Given the description of an element on the screen output the (x, y) to click on. 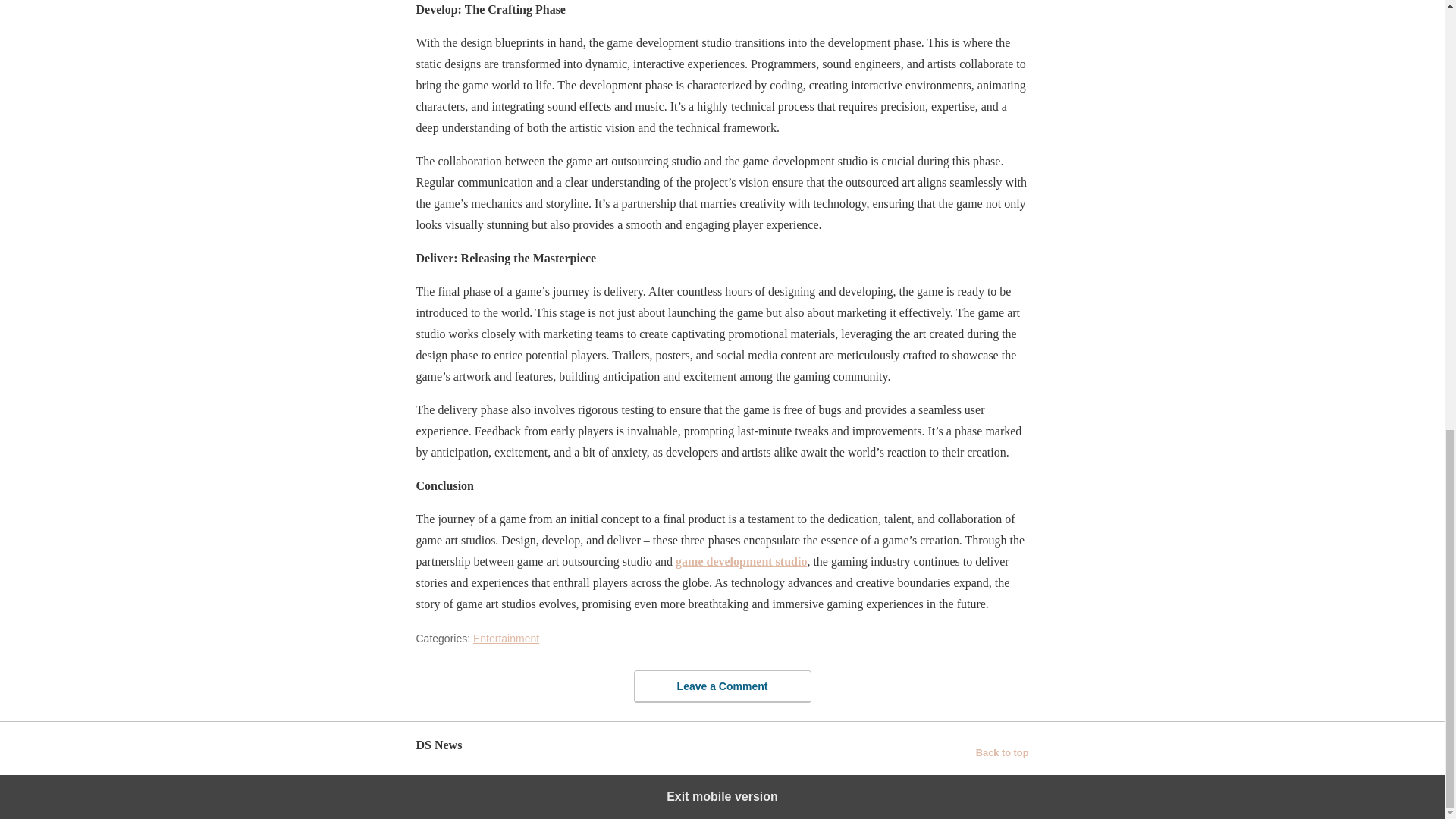
game development studio (740, 560)
Back to top (1002, 752)
Leave a Comment (721, 686)
Entertainment (505, 637)
